Given the description of an element on the screen output the (x, y) to click on. 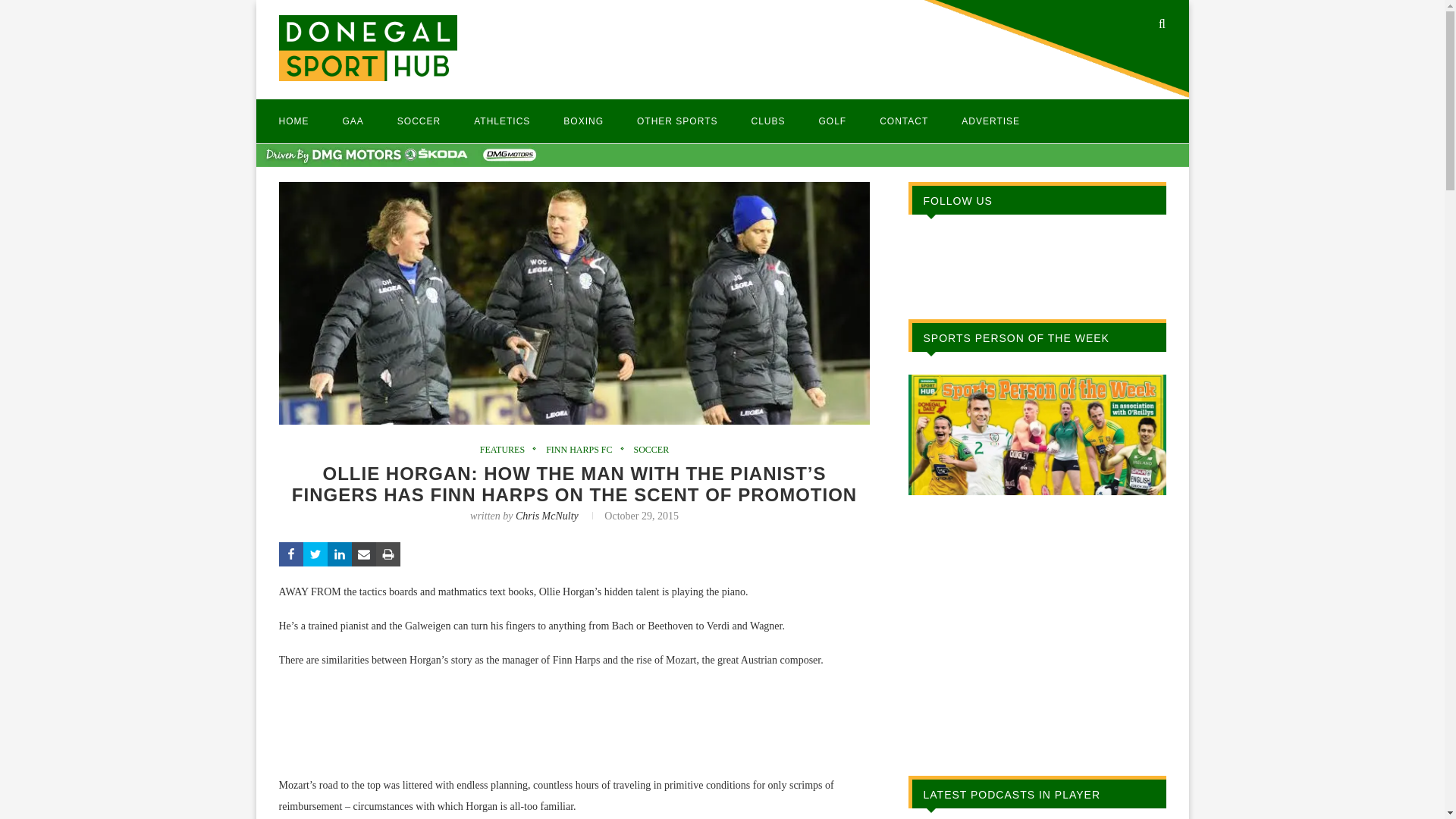
View all posts in SOCCER (651, 449)
BOXING (583, 121)
SOCCER (419, 121)
SOCCER (651, 449)
Share on LinkedIn (339, 554)
View all posts in Finn Harps FC (583, 449)
OTHER SPORTS (677, 121)
Share via Email (363, 554)
CONTACT (903, 121)
ATHLETICS (501, 121)
FEATURES (506, 449)
Chris McNulty (546, 515)
Print this Page (387, 554)
FINN HARPS FC (583, 449)
ADVERTISE (990, 121)
